Given the description of an element on the screen output the (x, y) to click on. 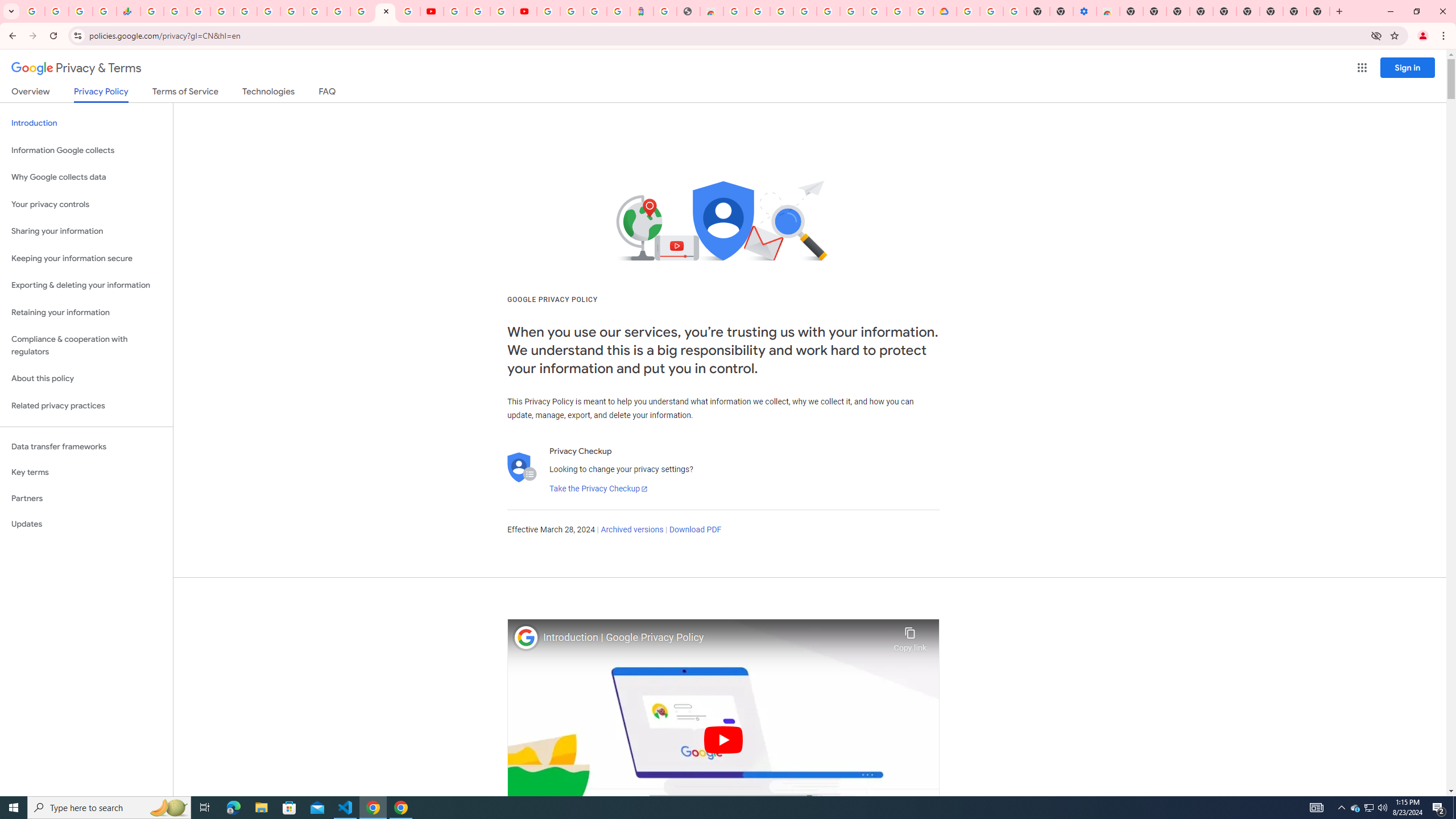
Sharing your information (86, 230)
Copy link (909, 636)
Take the Privacy Checkup (597, 488)
Chrome Web Store - Accessibility extensions (1108, 11)
Turn cookies on or off - Computer - Google Account Help (1015, 11)
Play (723, 739)
Why Google collects data (86, 176)
Sign in - Google Accounts (547, 11)
